Given the description of an element on the screen output the (x, y) to click on. 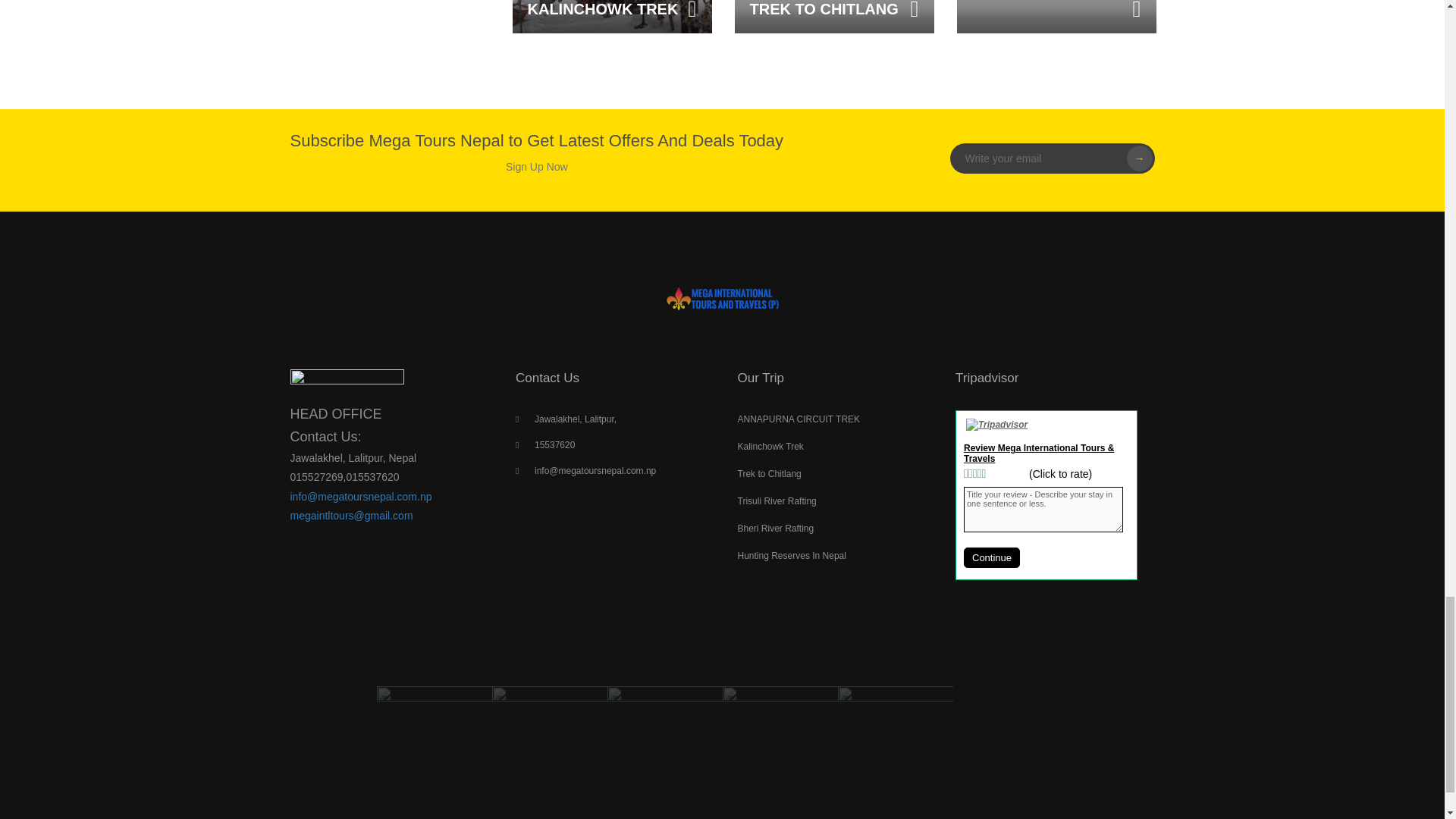
Continue (991, 557)
